Given the description of an element on the screen output the (x, y) to click on. 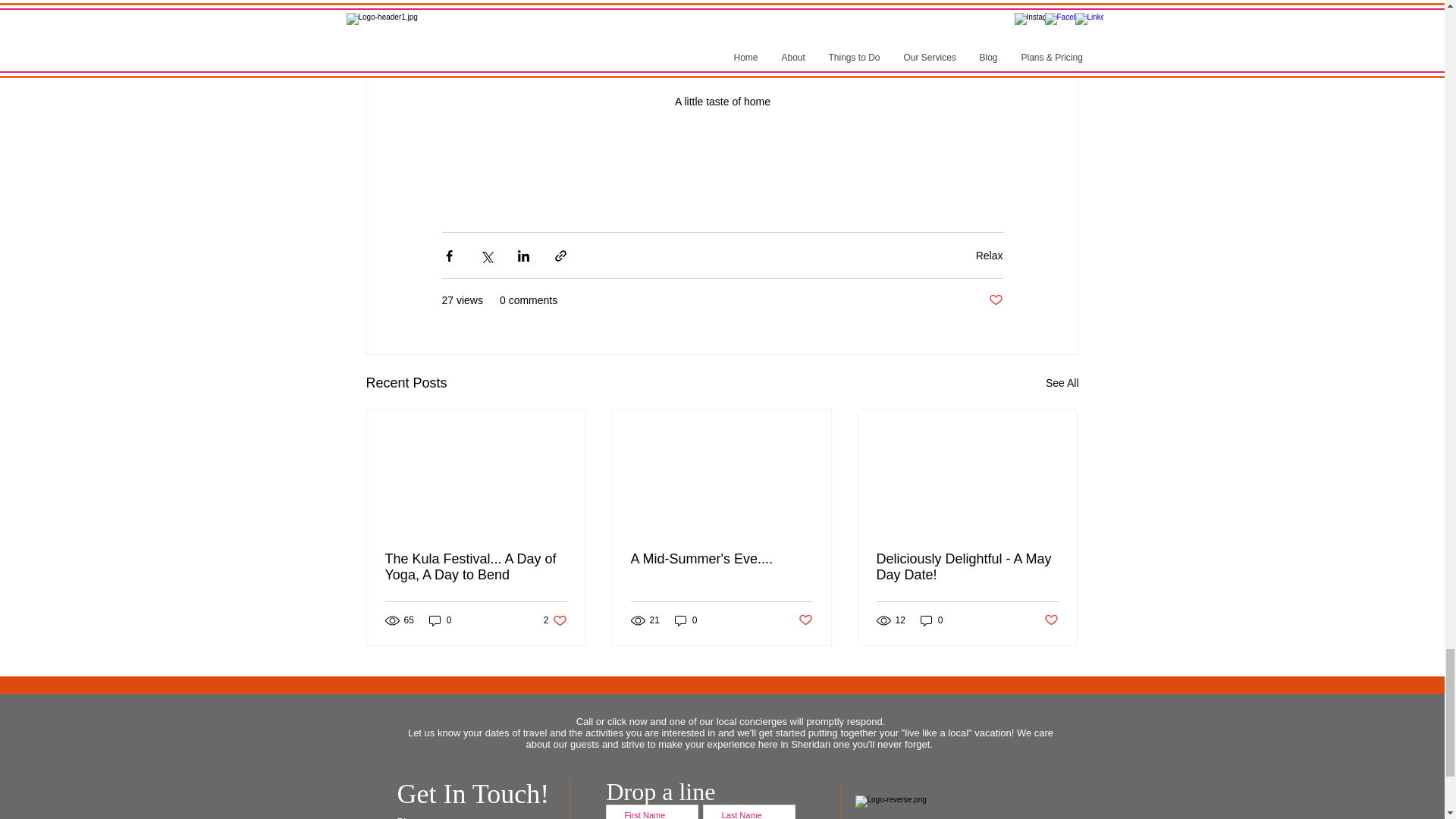
Relax (989, 255)
Post not marked as liked (995, 300)
